Given the description of an element on the screen output the (x, y) to click on. 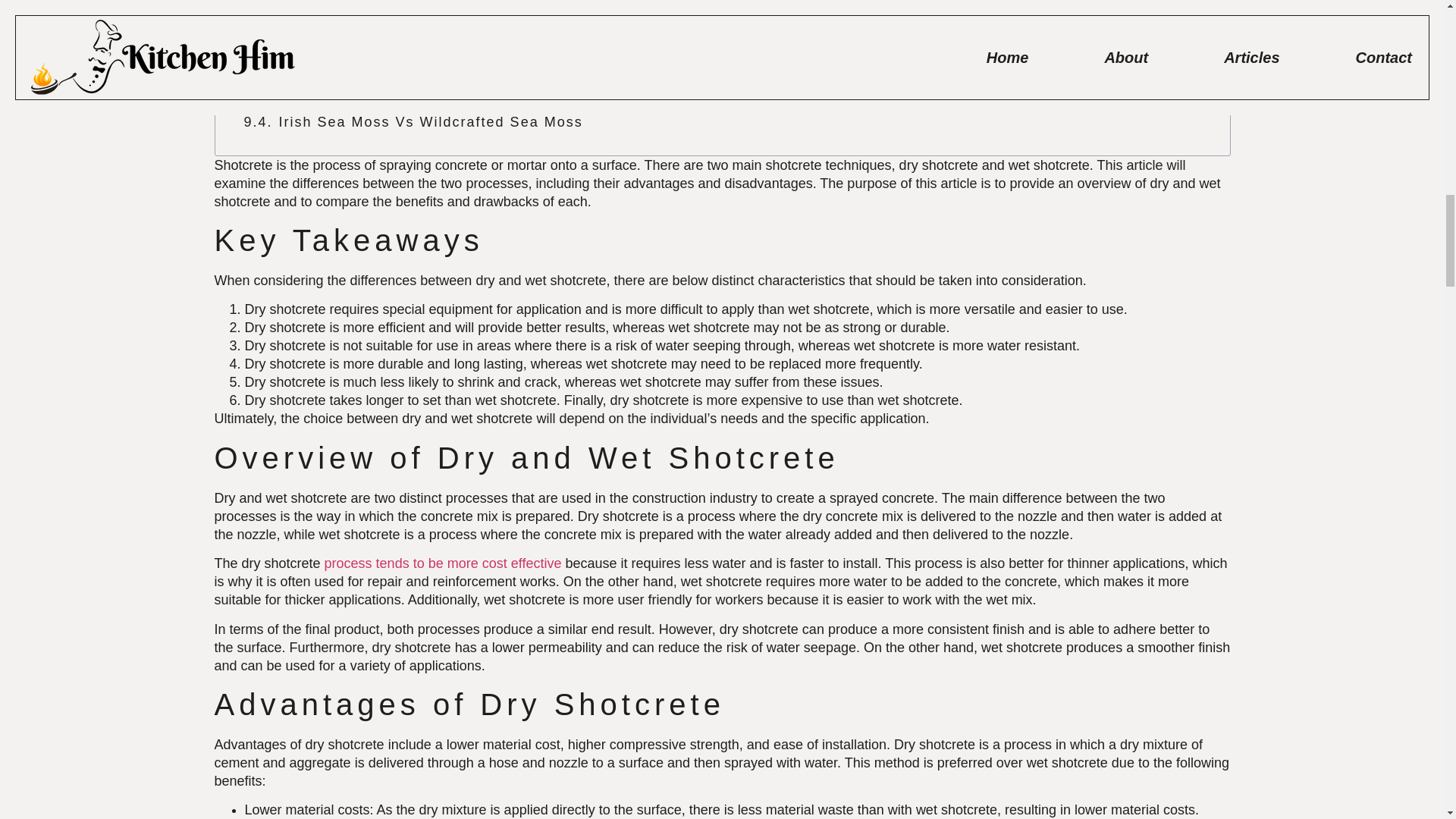
Irish Sea Moss Vs Jamaican Sea Moss (424, 92)
Irish Sea Moss Vs Wildcrafted Sea Moss (431, 121)
Purple Sea Moss vs Irish Sea Moss: Comparative Analysis (497, 62)
Irish Moss vs Scotch Moss: A Detailed Look (443, 33)
process tends to be more cost effective (443, 563)
